Given the description of an element on the screen output the (x, y) to click on. 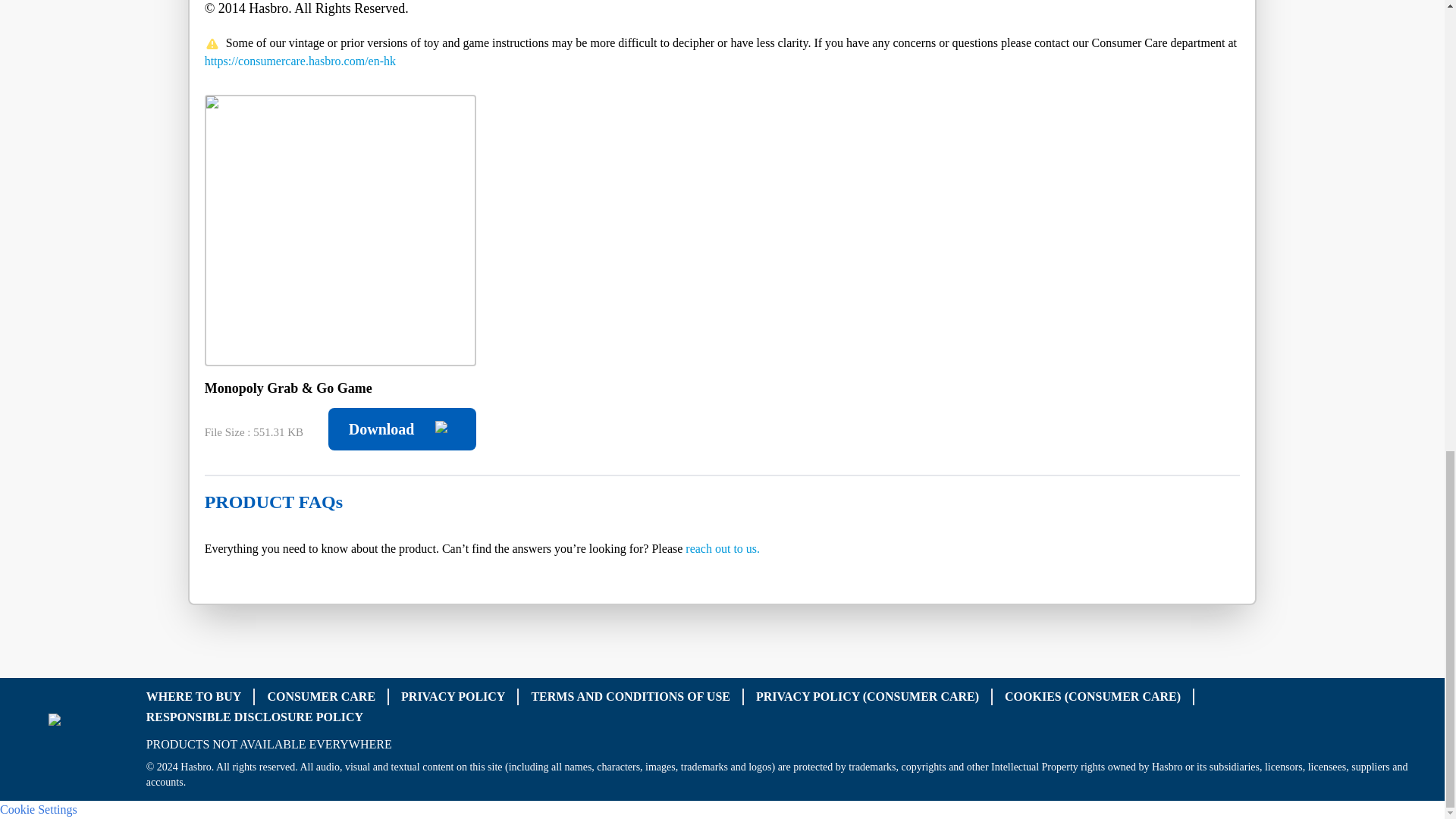
TERMS AND CONDITIONS OF USE (630, 695)
Cookie Settings (38, 809)
CONSUMER CARE (320, 695)
WHERE TO BUY (194, 695)
Download (402, 428)
reach out to us. (722, 548)
PRIVACY POLICY (453, 695)
RESPONSIBLE DISCLOSURE POLICY (254, 716)
